Given the description of an element on the screen output the (x, y) to click on. 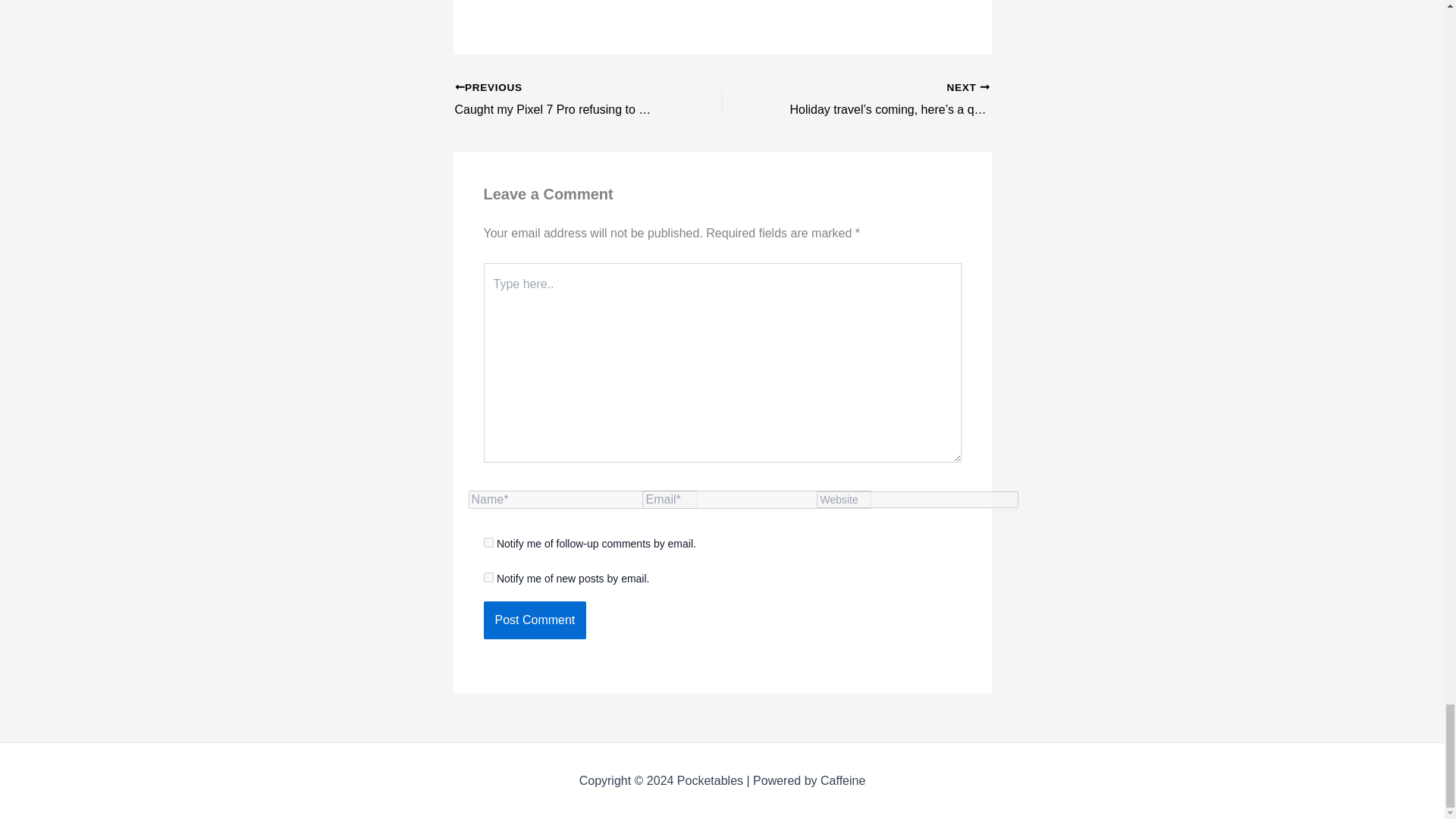
Post Comment (534, 620)
subscribe (488, 577)
Caught my Pixel 7 Pro refusing to charge tonight (561, 99)
subscribe (488, 542)
